Given the description of an element on the screen output the (x, y) to click on. 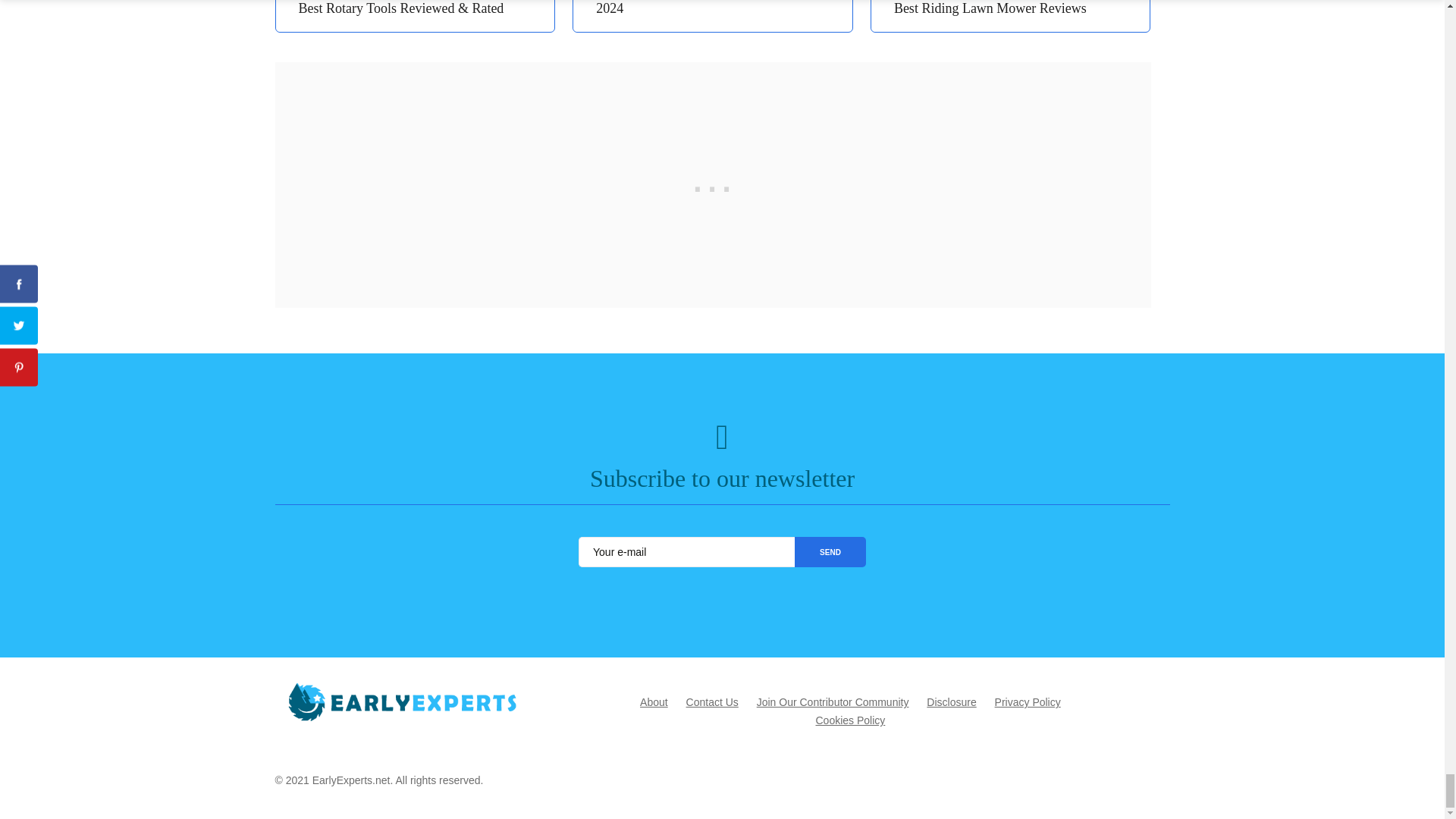
Your e-mail (686, 552)
EarlyExperts (403, 702)
